Given the description of an element on the screen output the (x, y) to click on. 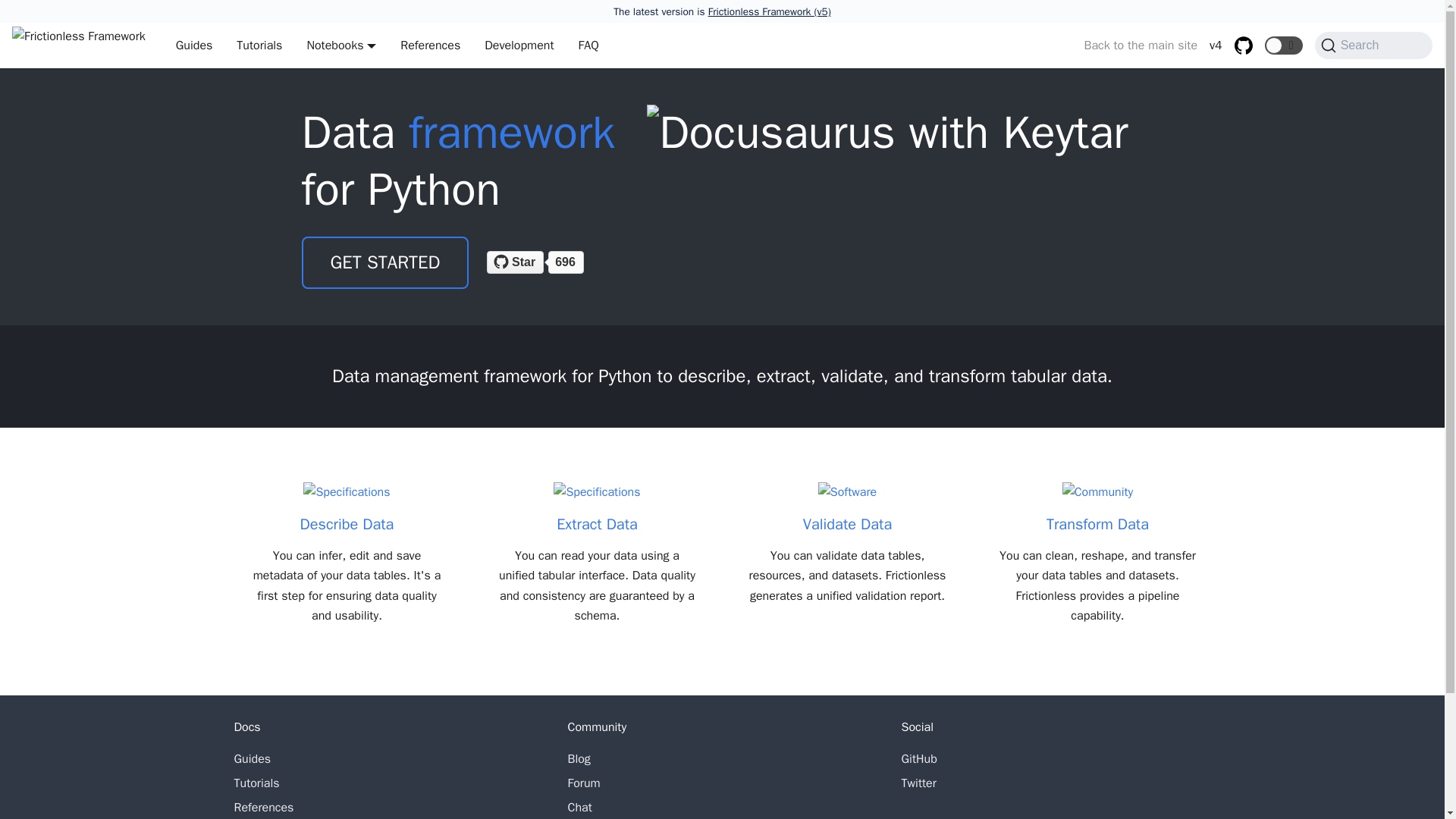
Search (1373, 44)
Development (518, 45)
Tutorials (259, 45)
References (429, 45)
GitHub Stars (547, 261)
Back to the main site (1133, 45)
Describe Data (346, 508)
FAQ (588, 45)
Notebooks (341, 45)
